Given the description of an element on the screen output the (x, y) to click on. 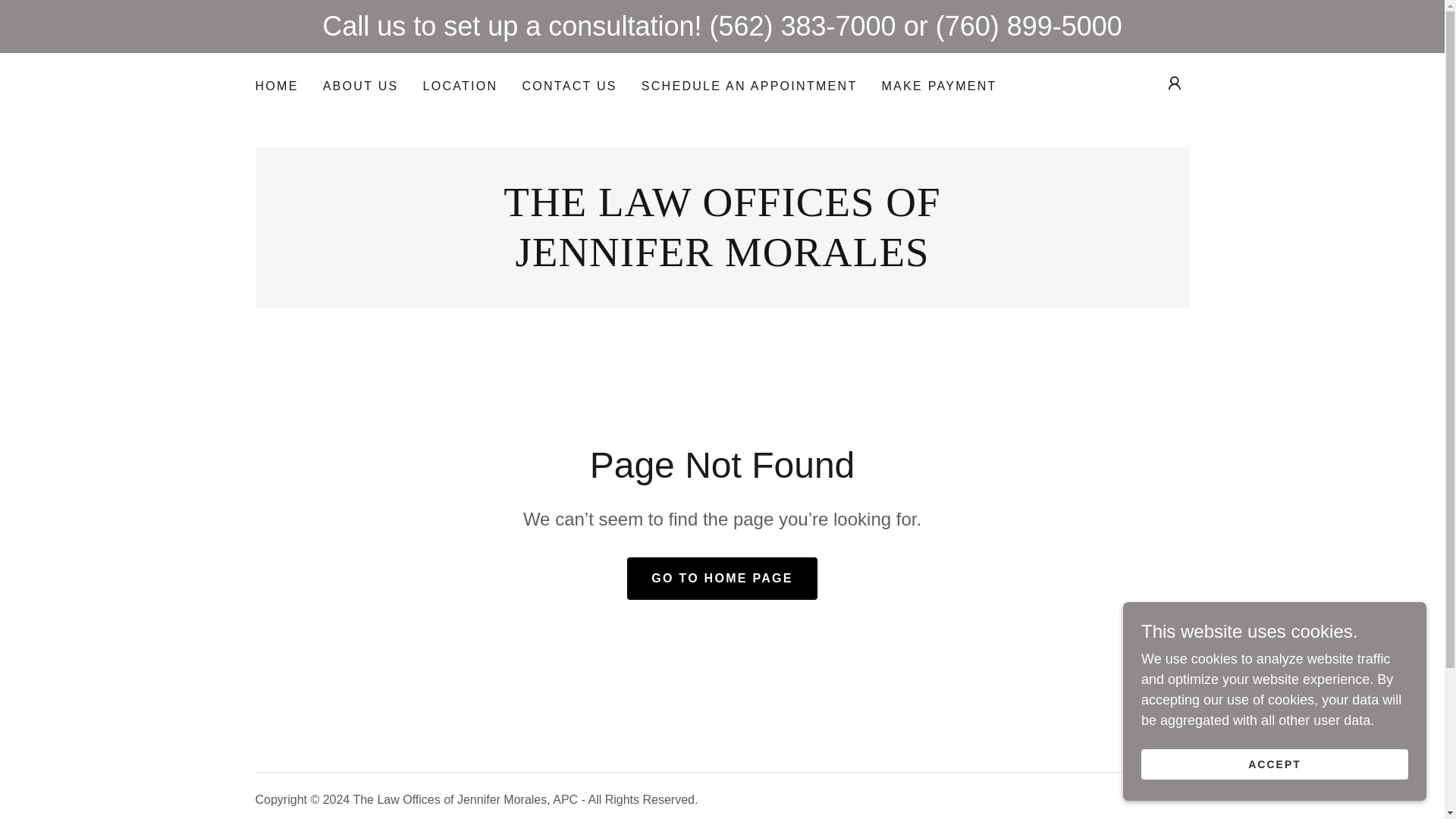
LOCATION (459, 85)
ACCEPT (1274, 764)
GO TO HOME PAGE (721, 578)
MAKE PAYMENT (938, 85)
HOME (276, 85)
SCHEDULE AN APPOINTMENT (721, 261)
CONTACT US (721, 261)
ABOUT US (749, 85)
